Given the description of an element on the screen output the (x, y) to click on. 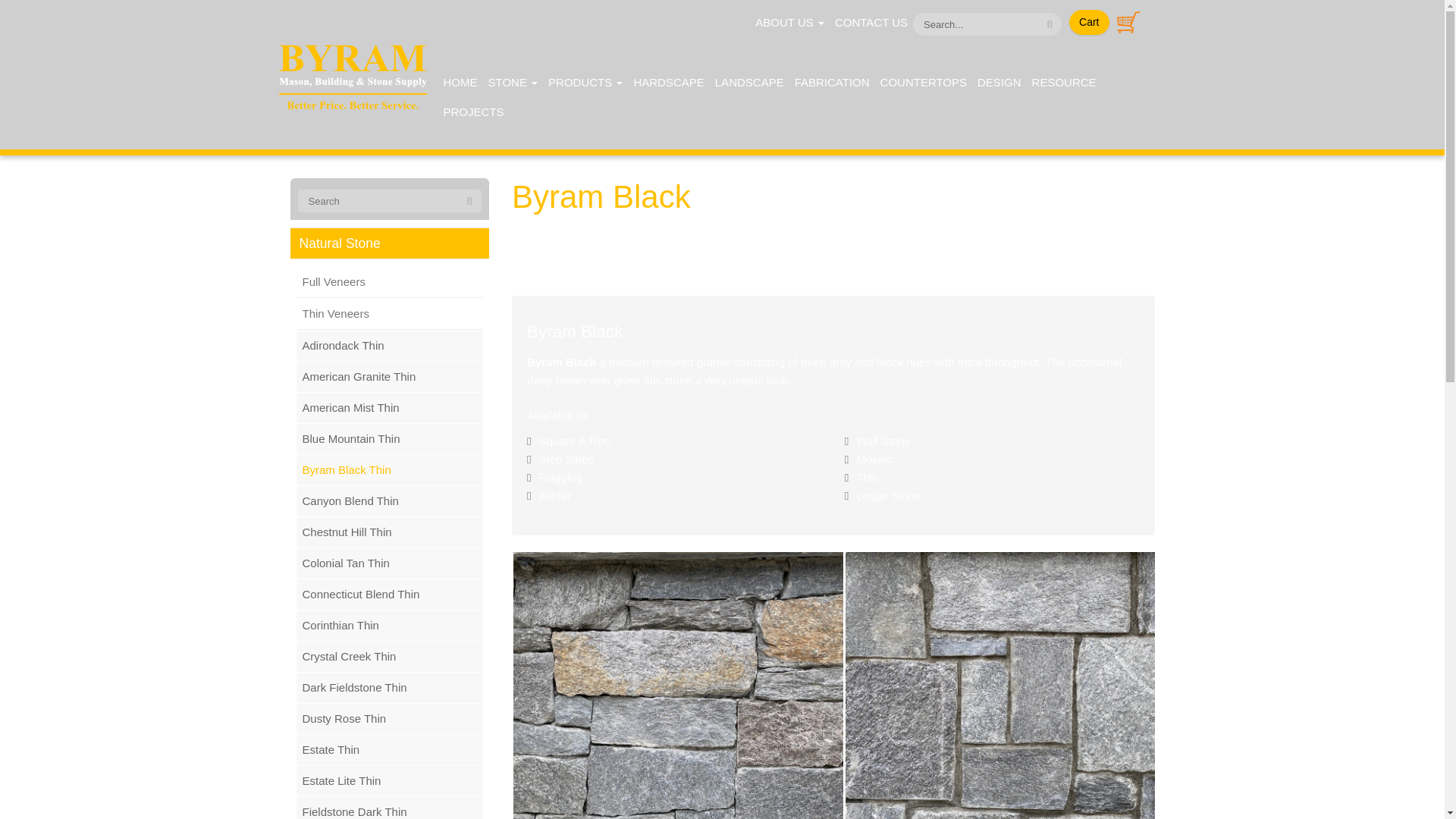
Cart (1088, 22)
